Given the description of an element on the screen output the (x, y) to click on. 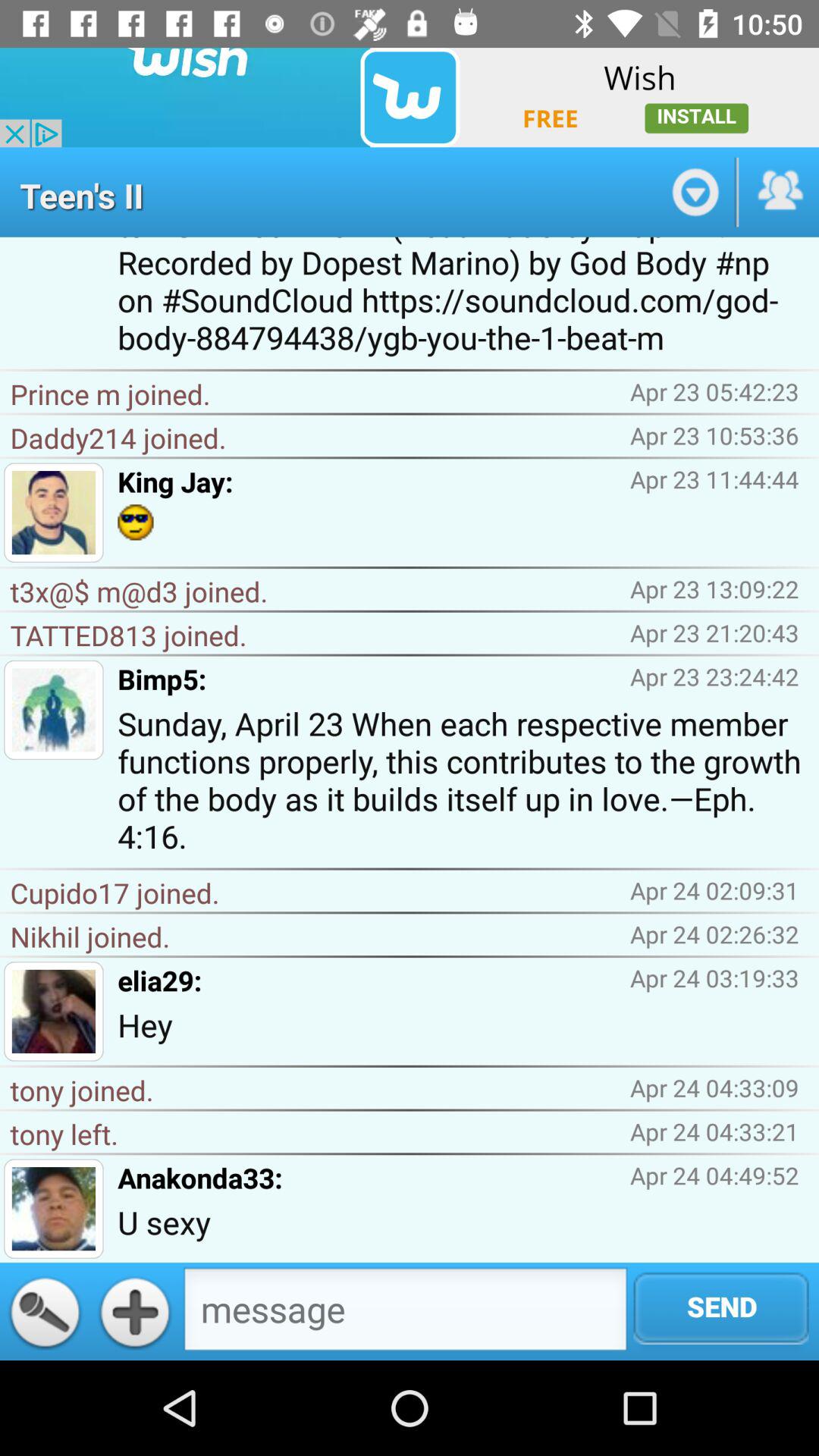
view friends list (778, 191)
